Given the description of an element on the screen output the (x, y) to click on. 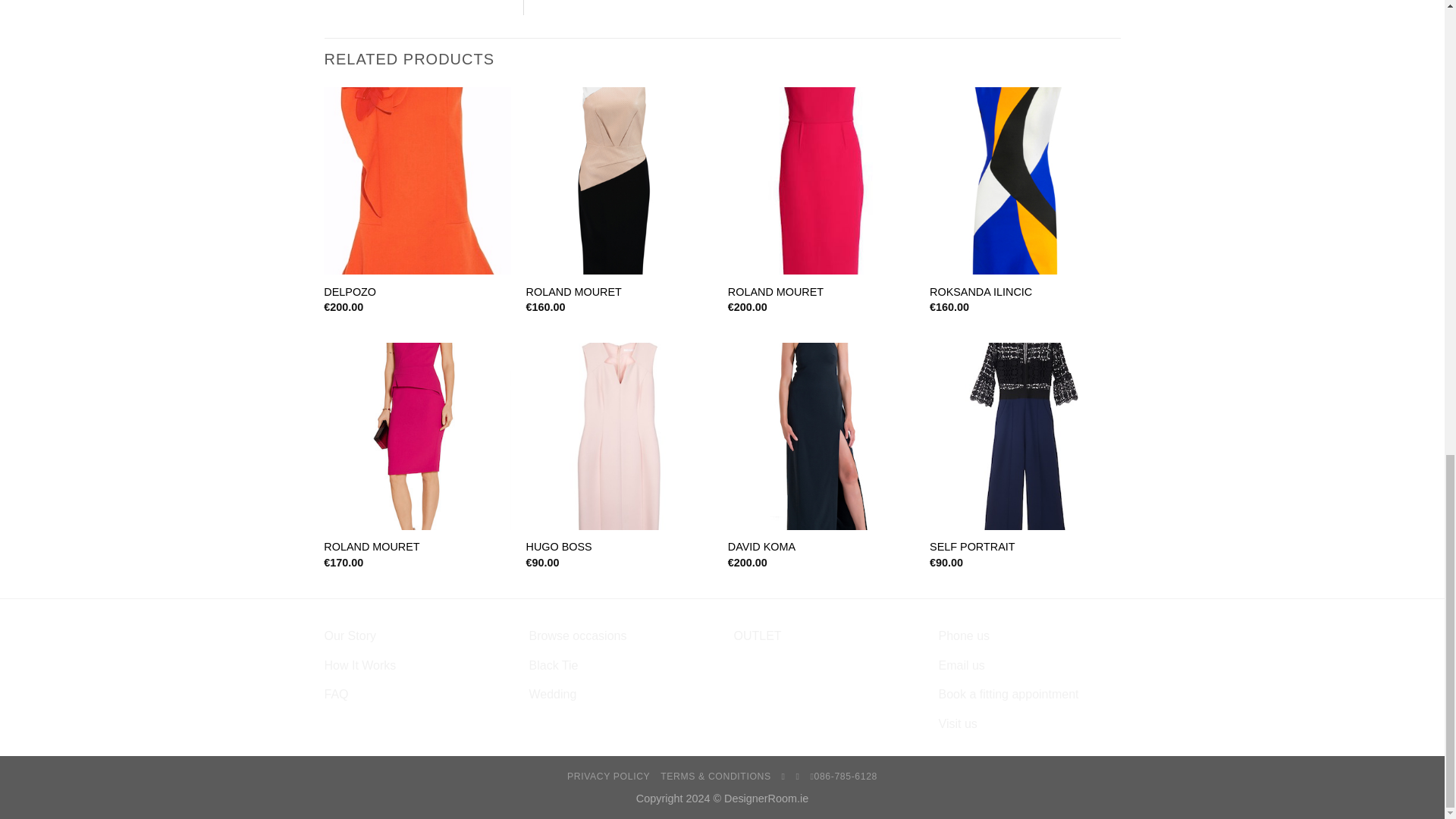
DELPOZO (349, 292)
